Given the description of an element on the screen output the (x, y) to click on. 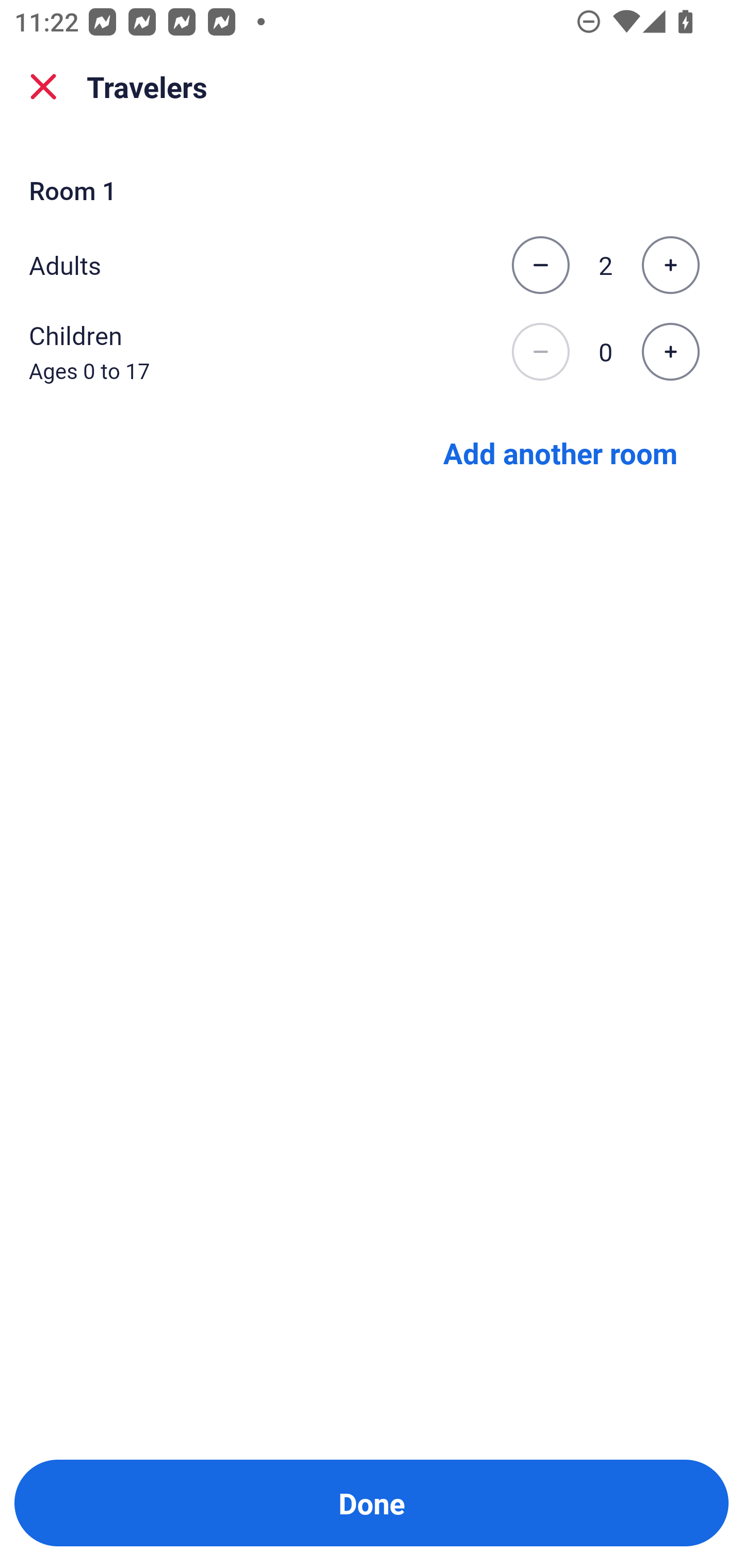
close (43, 86)
Decrease the number of adults (540, 264)
Increase the number of adults (670, 264)
Decrease the number of children (540, 351)
Increase the number of children (670, 351)
Add another room (560, 452)
Done (371, 1502)
